Given the description of an element on the screen output the (x, y) to click on. 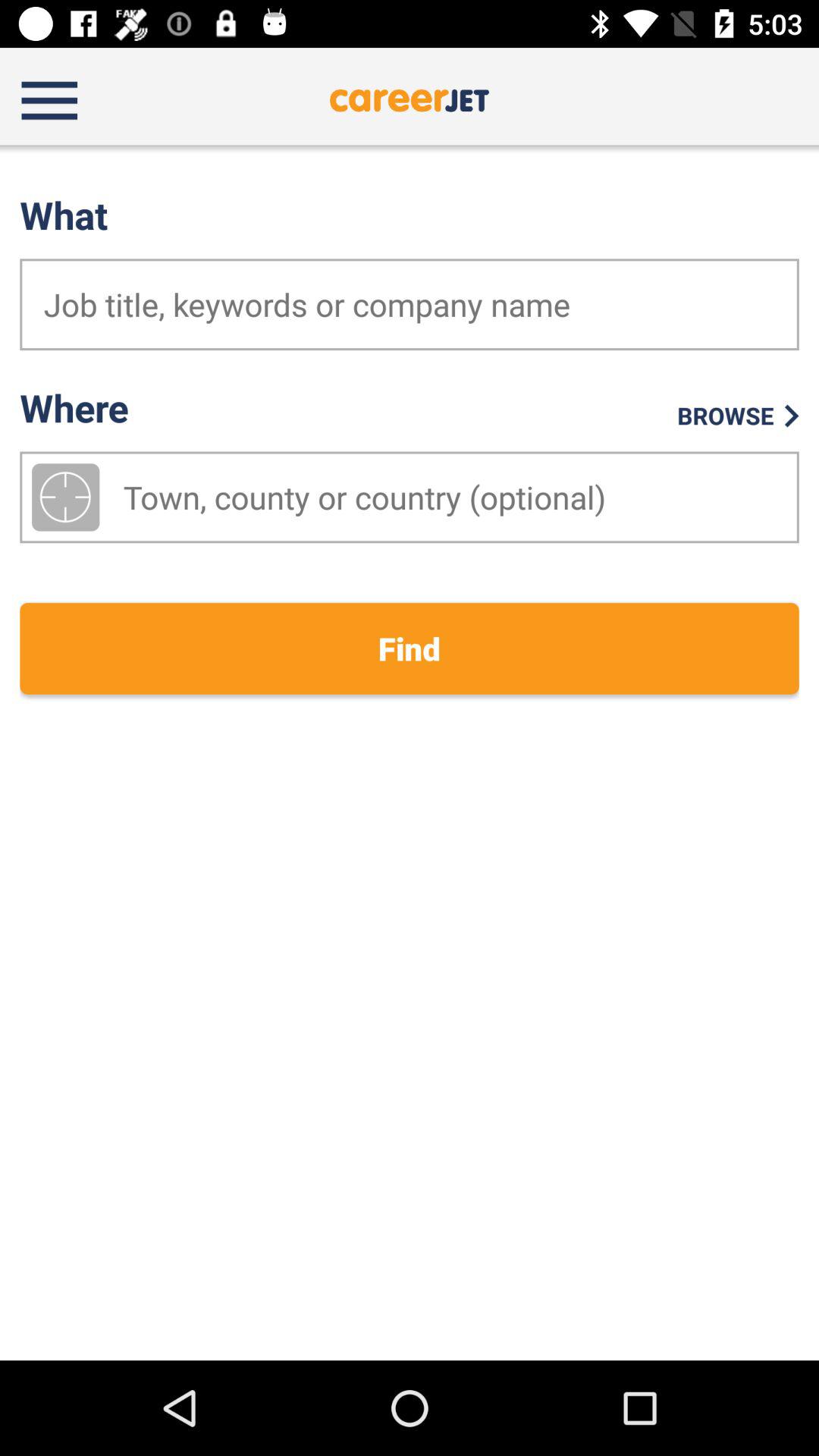
search textbox (409, 304)
